Given the description of an element on the screen output the (x, y) to click on. 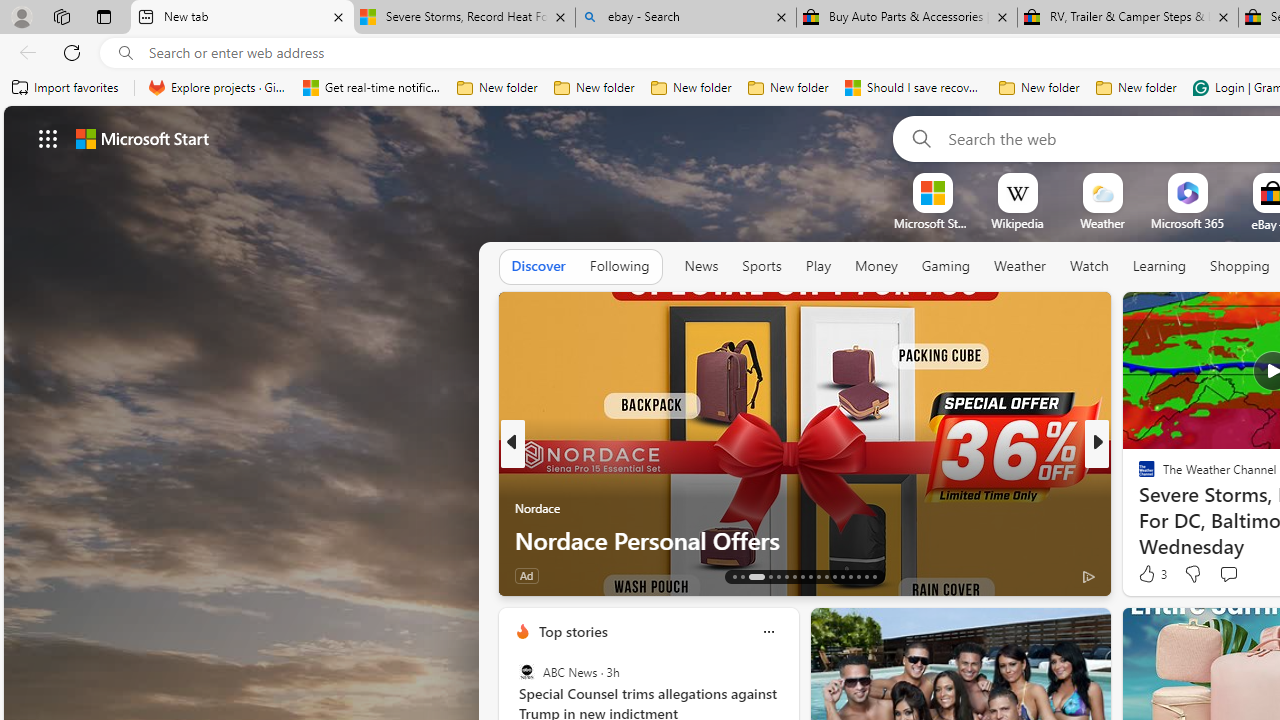
ETNT Mind+Body (1138, 475)
99 Like (1149, 574)
AutomationID: tab-16 (769, 576)
AutomationID: tab-18 (786, 576)
Wikipedia (1017, 223)
13 Like (1149, 574)
AutomationID: tab-23 (825, 576)
353 Like (1151, 574)
116 Like (1151, 574)
